Given the description of an element on the screen output the (x, y) to click on. 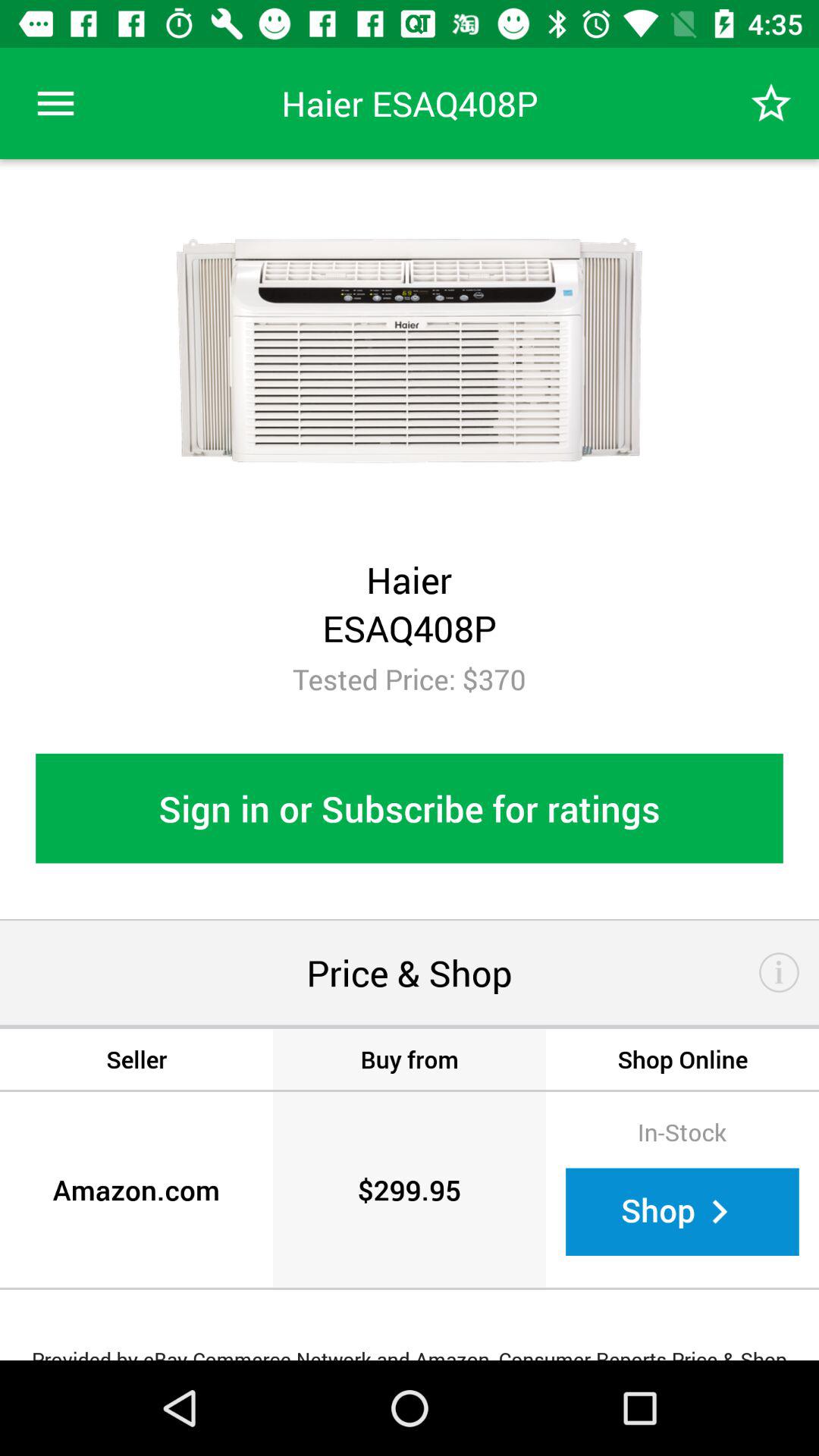
open icon at the top left corner (55, 103)
